Given the description of an element on the screen output the (x, y) to click on. 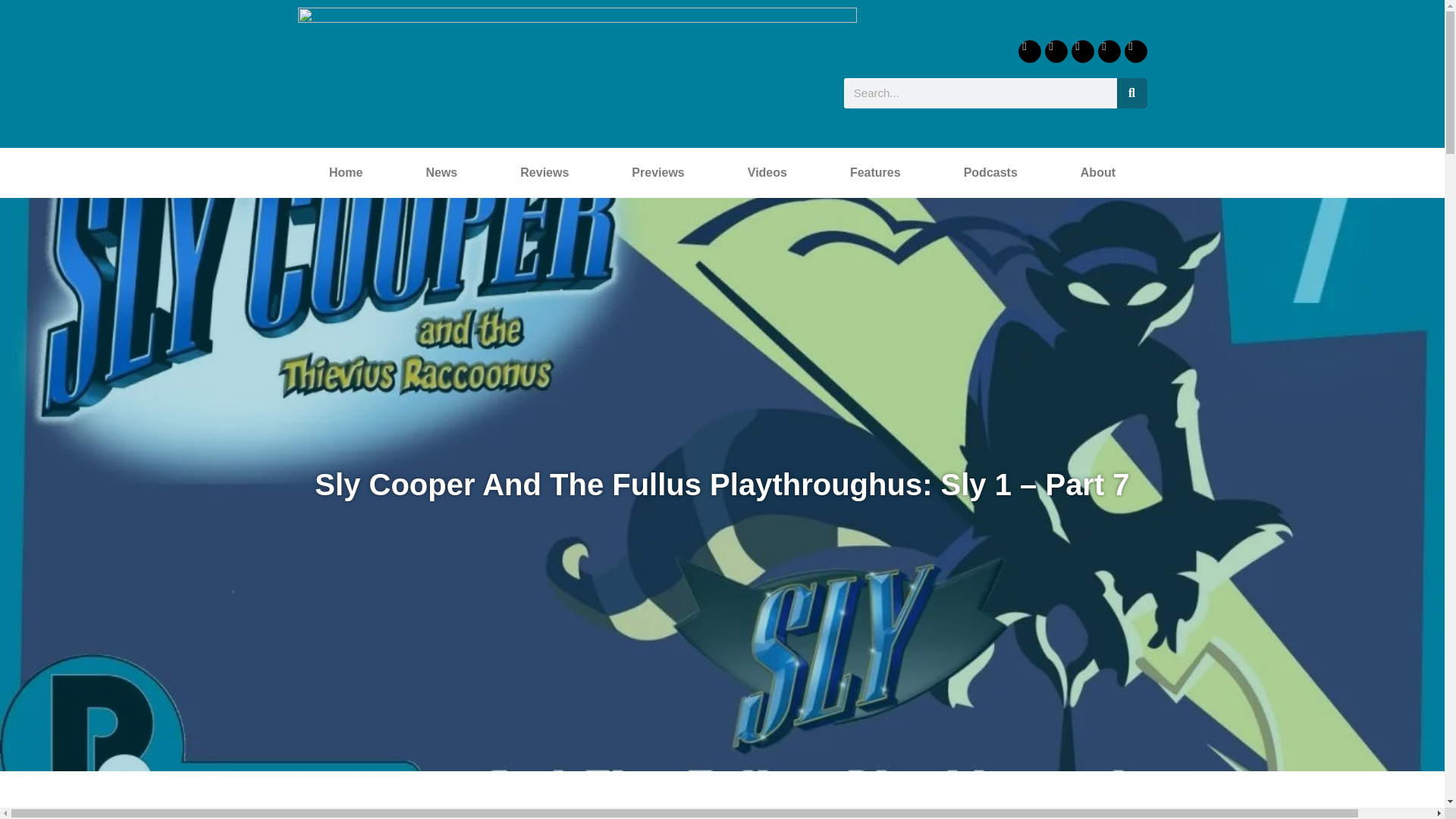
About (1097, 172)
News (441, 172)
Previews (657, 172)
Features (874, 172)
Home (345, 172)
Reviews (544, 172)
Podcasts (989, 172)
Videos (767, 172)
